Given the description of an element on the screen output the (x, y) to click on. 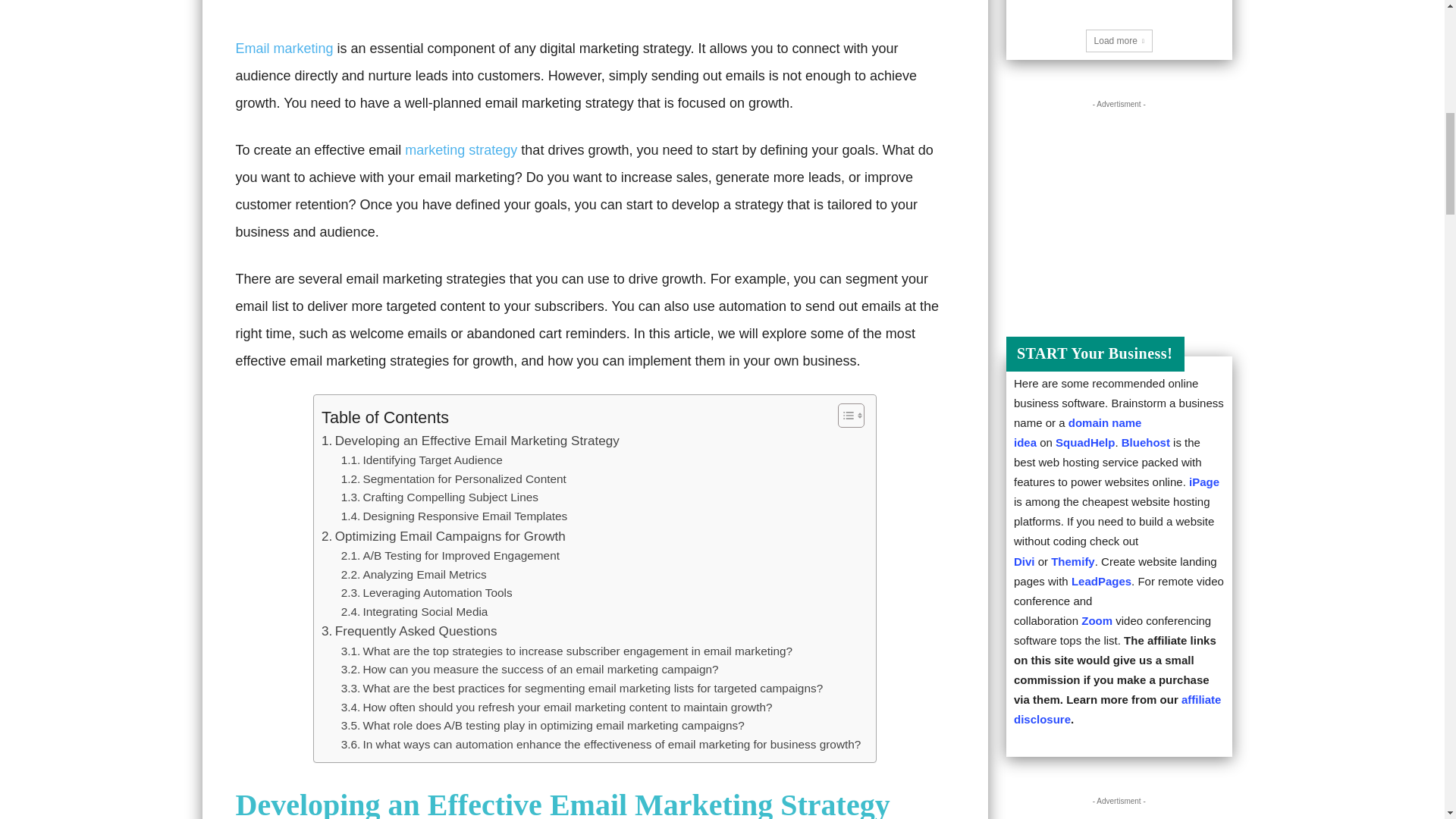
Designing Responsive Email Templates (453, 516)
Email marketing (283, 48)
Developing an Effective Email Marketing Strategy (470, 440)
Optimizing Email Campaigns for Growth (443, 536)
Crafting Compelling Subject Lines (439, 497)
Leveraging Automation Tools (426, 592)
Analyzing Email Metrics (413, 574)
Optimizing Email Campaigns for Growth (443, 536)
Crafting Compelling Subject Lines (439, 497)
Segmentation for Personalized Content (453, 479)
Identifying Target Audience (421, 460)
Identifying Target Audience (421, 460)
Developing an Effective Email Marketing Strategy (470, 440)
Segmentation for Personalized Content (453, 479)
Designing Responsive Email Templates (453, 516)
